Given the description of an element on the screen output the (x, y) to click on. 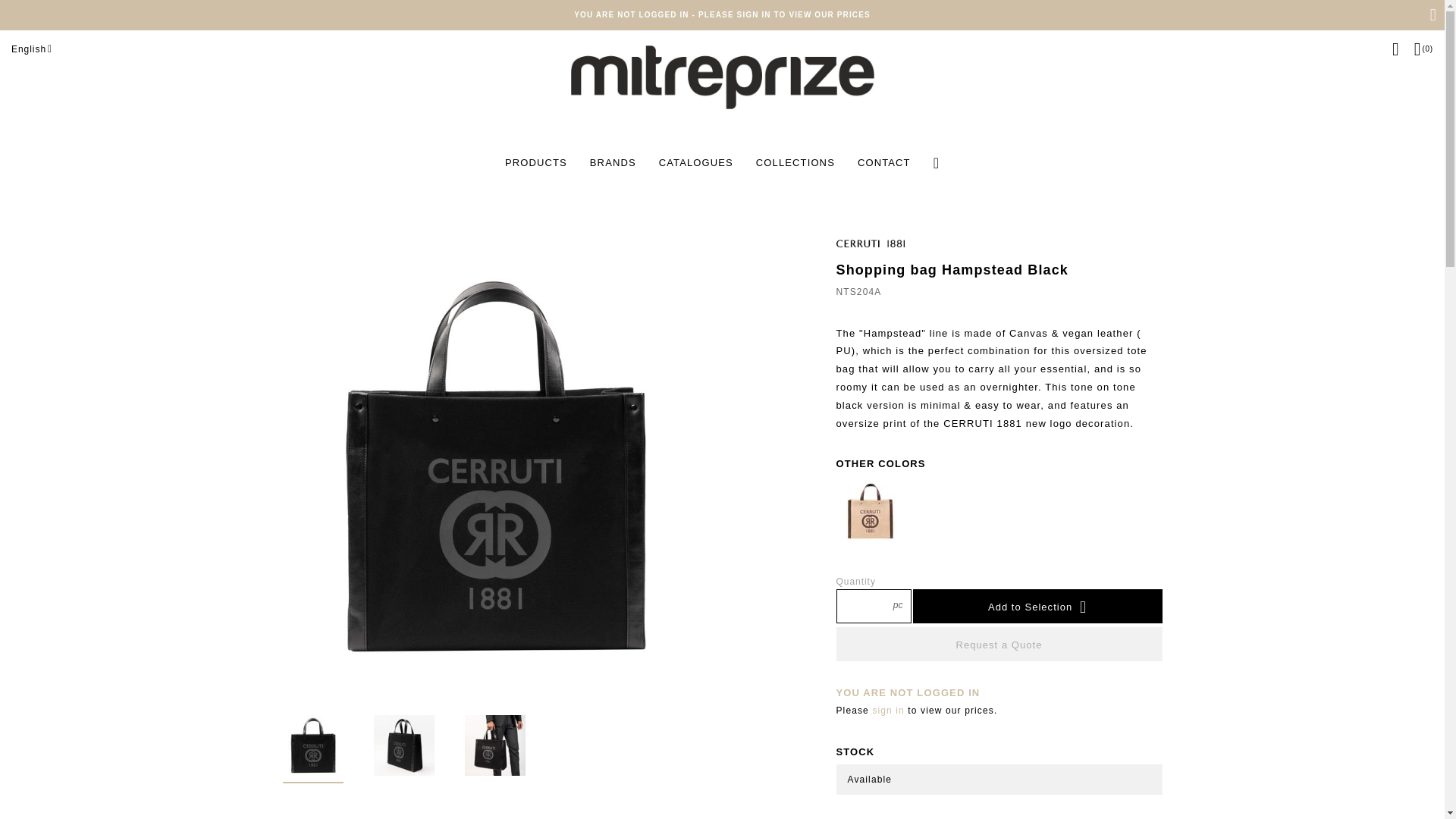
PLEASE SIGN IN TO VIEW OUR PRICES (784, 14)
English (32, 48)
CATALOGUES (695, 162)
PRODUCTS (535, 162)
COLLECTIONS (794, 162)
BRANDS (612, 162)
